Given the description of an element on the screen output the (x, y) to click on. 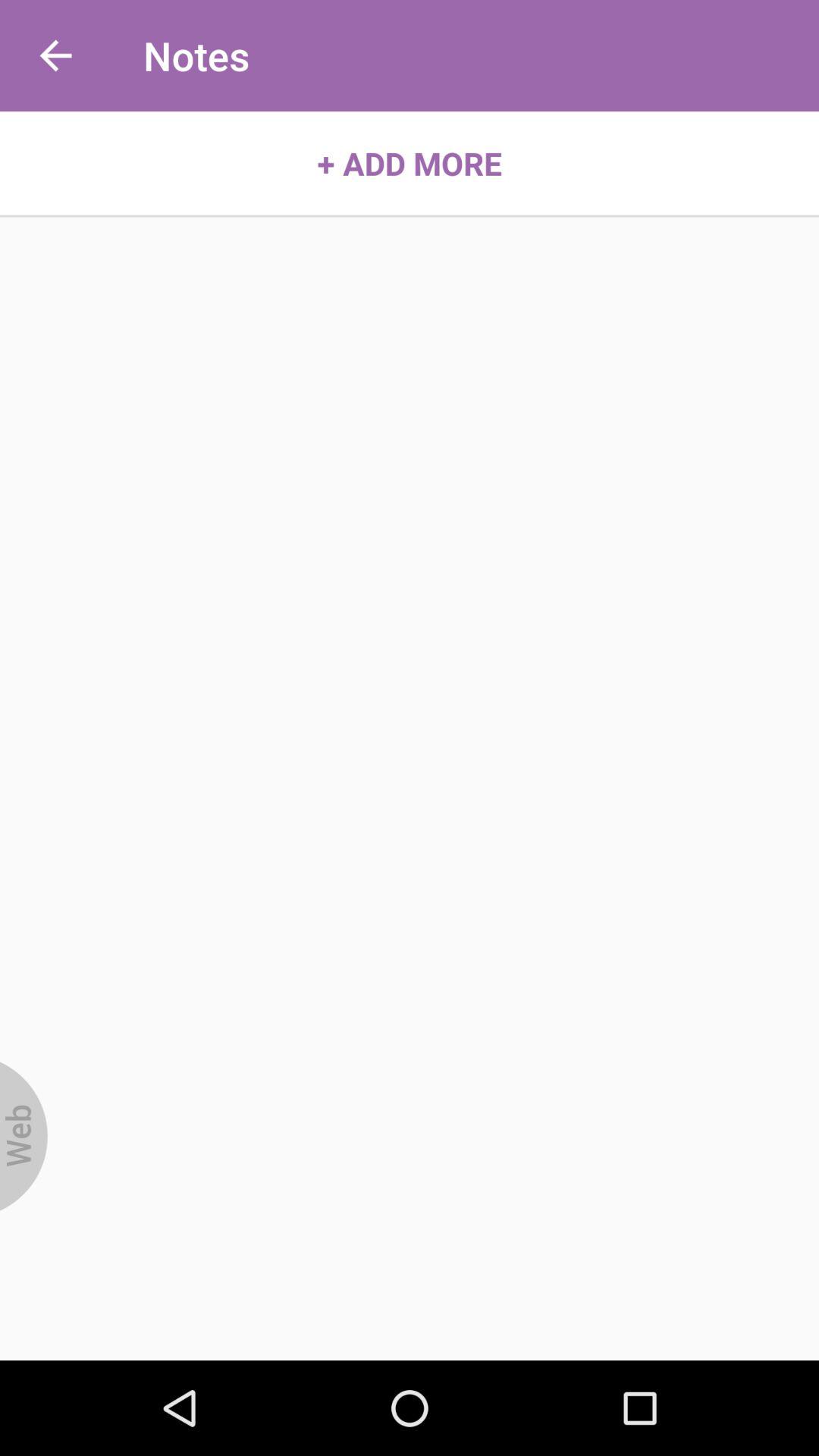
google search (23, 1135)
